Given the description of an element on the screen output the (x, y) to click on. 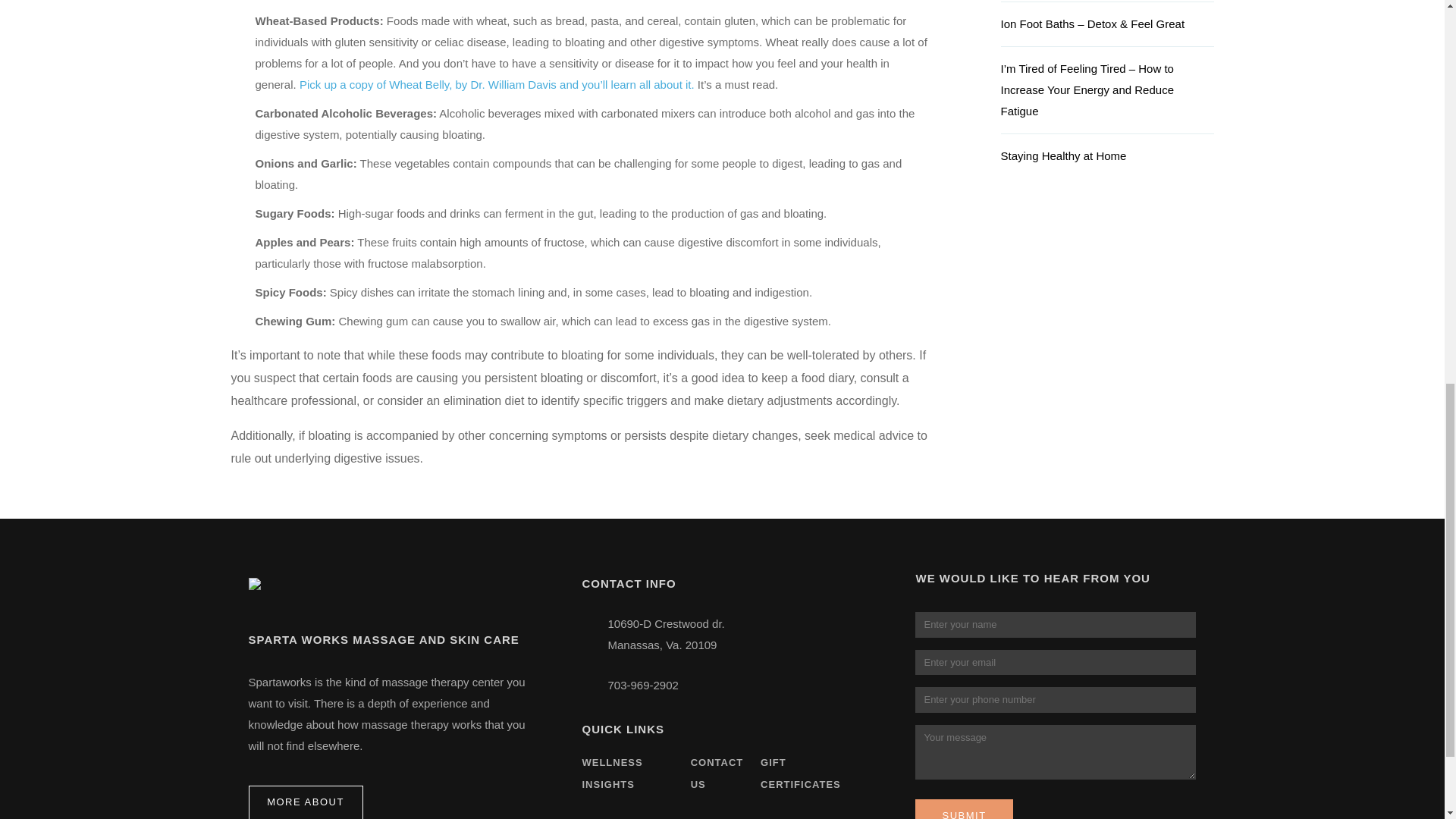
Staying Healthy at Home (1107, 161)
Submit (963, 809)
WELLNESS INSIGHTS (611, 773)
CONTACT US (717, 773)
GIFT CERTIFICATES (800, 773)
703-969-2902 (642, 684)
MORE ABOUT US (305, 802)
Submit (963, 809)
